Given the description of an element on the screen output the (x, y) to click on. 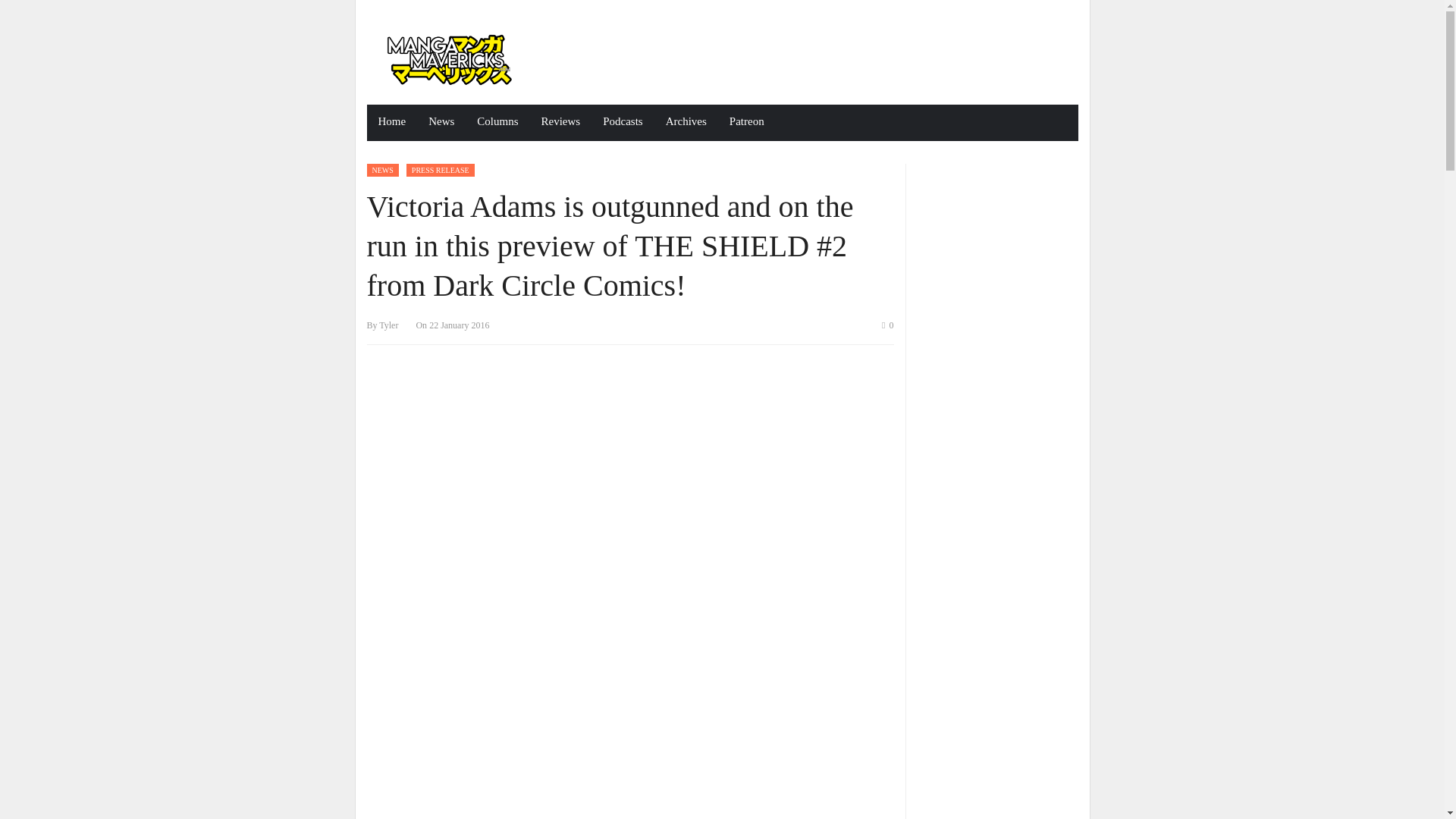
Columns (497, 122)
Reviews (560, 122)
Archives (685, 122)
Podcasts (622, 122)
News (440, 122)
Home (391, 122)
